Given the description of an element on the screen output the (x, y) to click on. 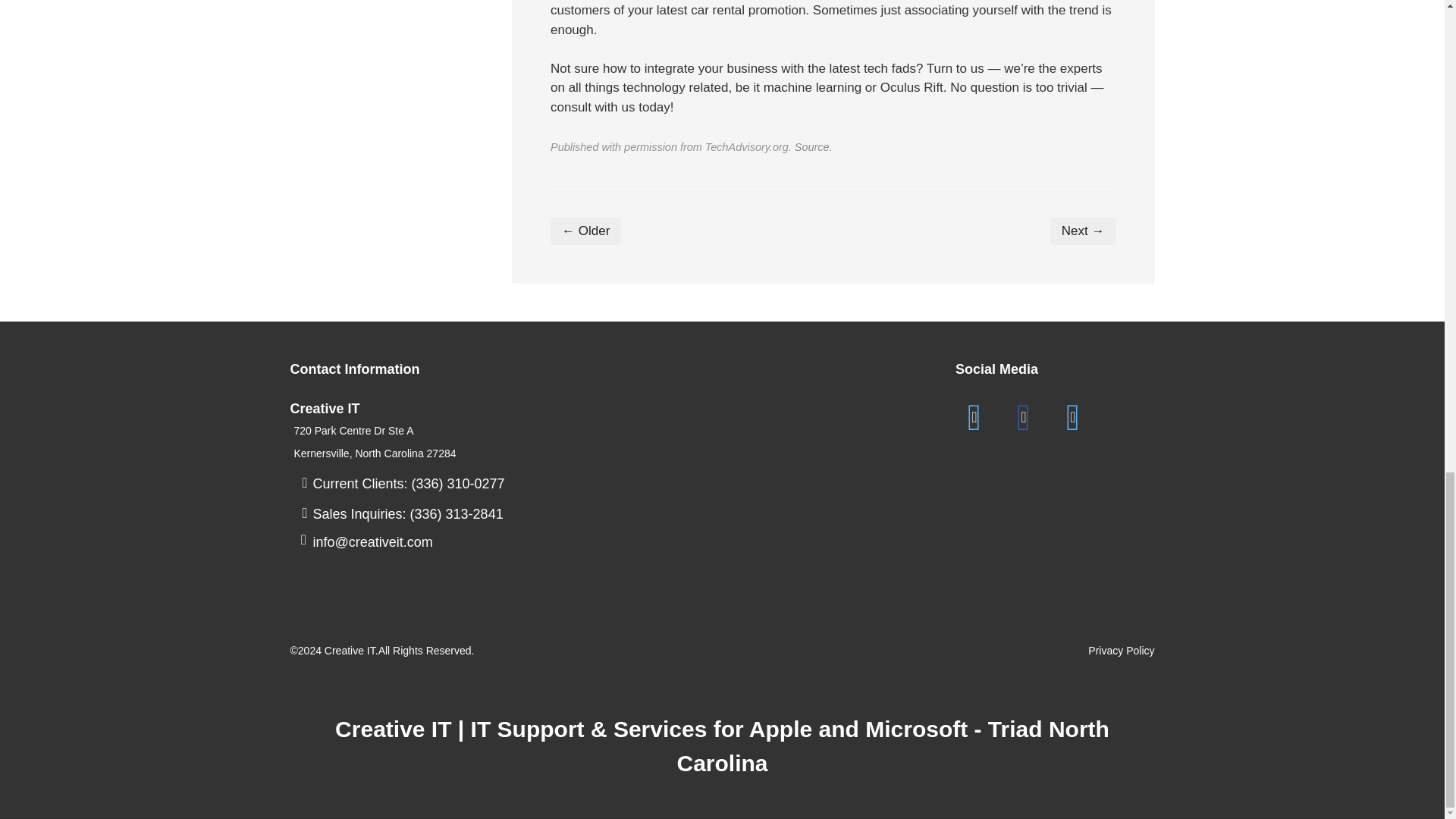
Source. (813, 146)
Privacy Policy (1120, 650)
